Given the description of an element on the screen output the (x, y) to click on. 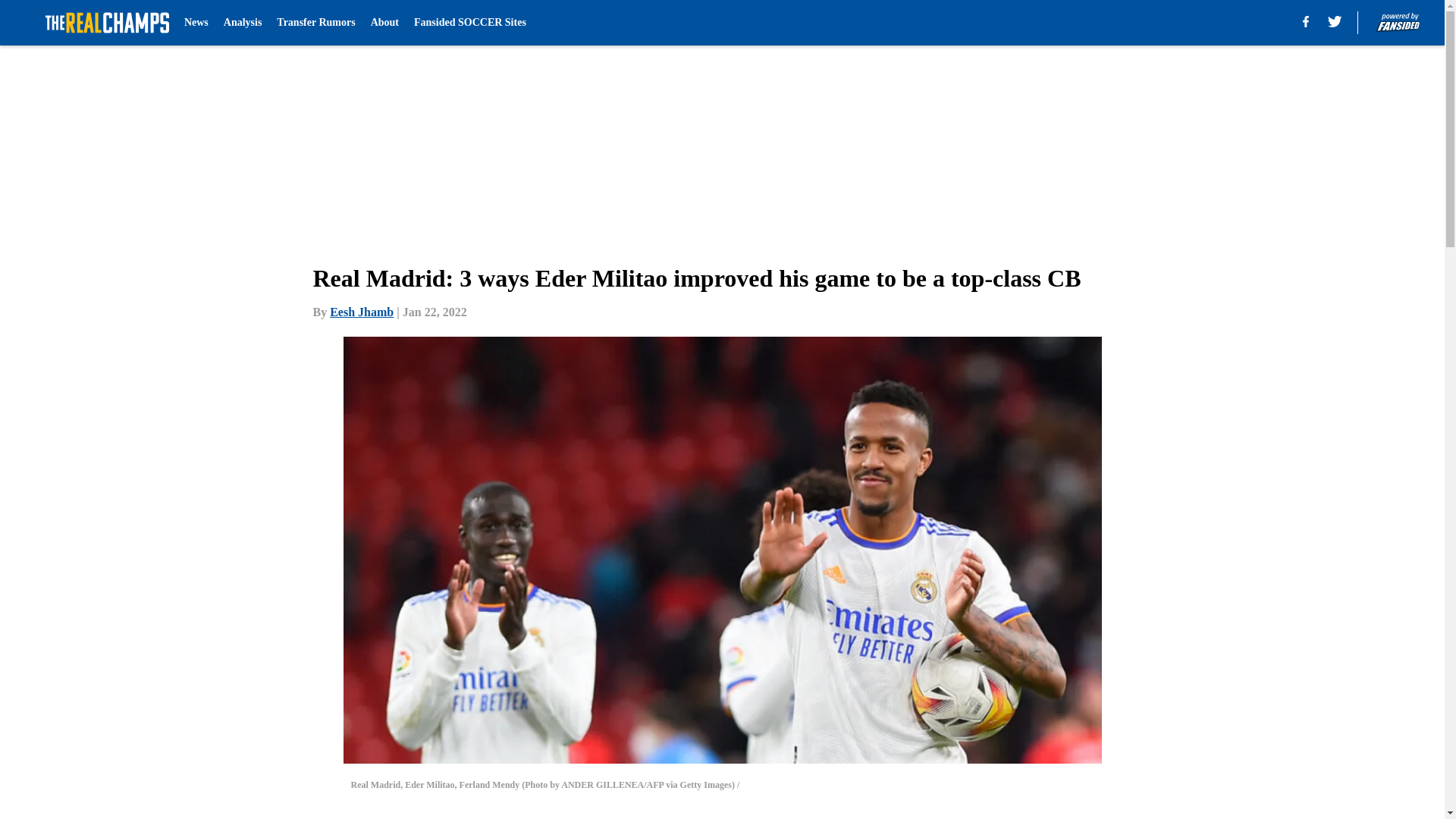
Eesh Jhamb (361, 311)
About (384, 22)
Analysis (243, 22)
Fansided SOCCER Sites (469, 22)
Transfer Rumors (315, 22)
News (196, 22)
